Given the description of an element on the screen output the (x, y) to click on. 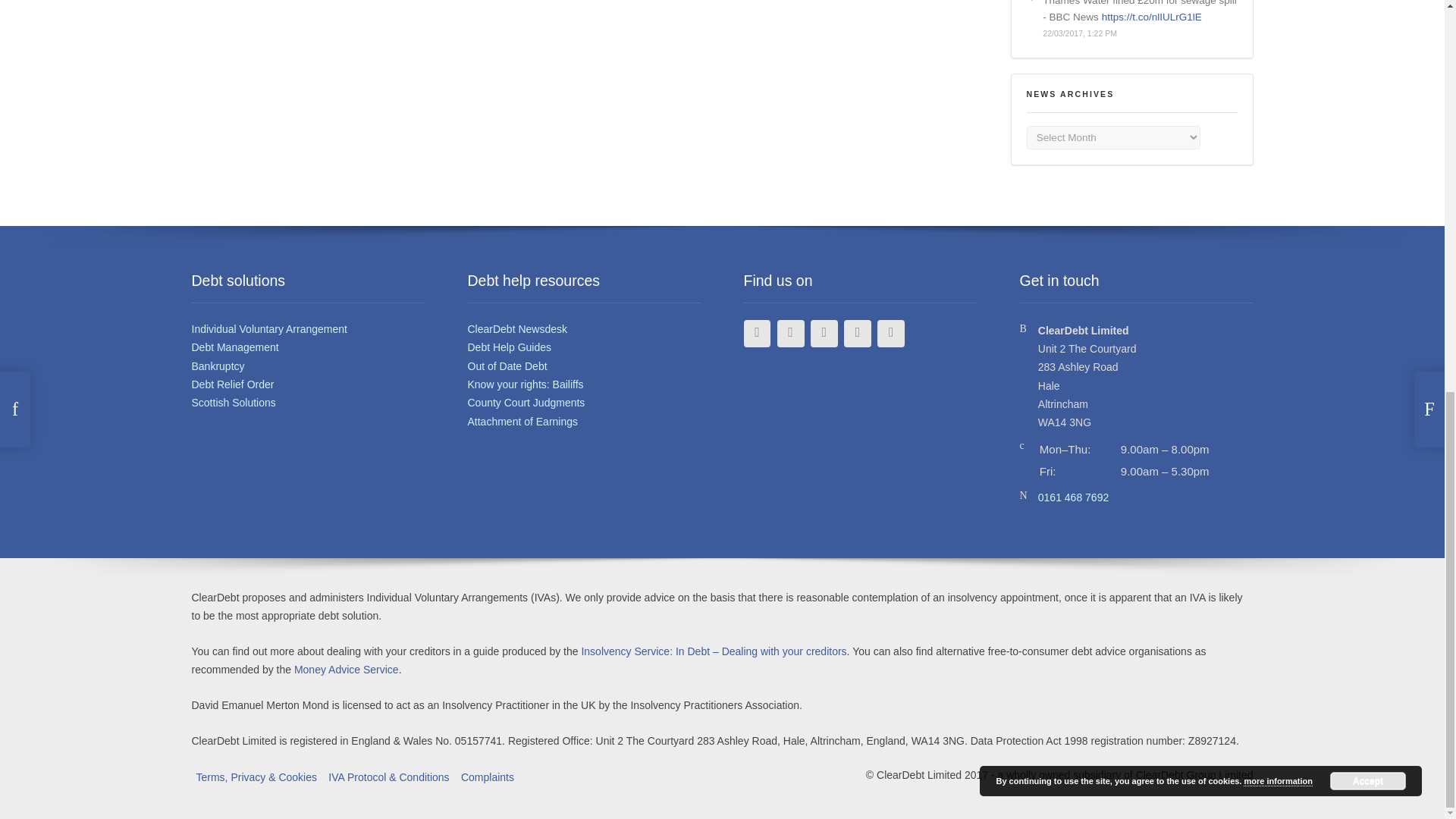
Debt Relief Order (231, 384)
Bankruptcy (217, 366)
Debt Management (234, 346)
Scottish Solutions (232, 402)
Individual Voluntary Arrangement (268, 328)
